Given the description of an element on the screen output the (x, y) to click on. 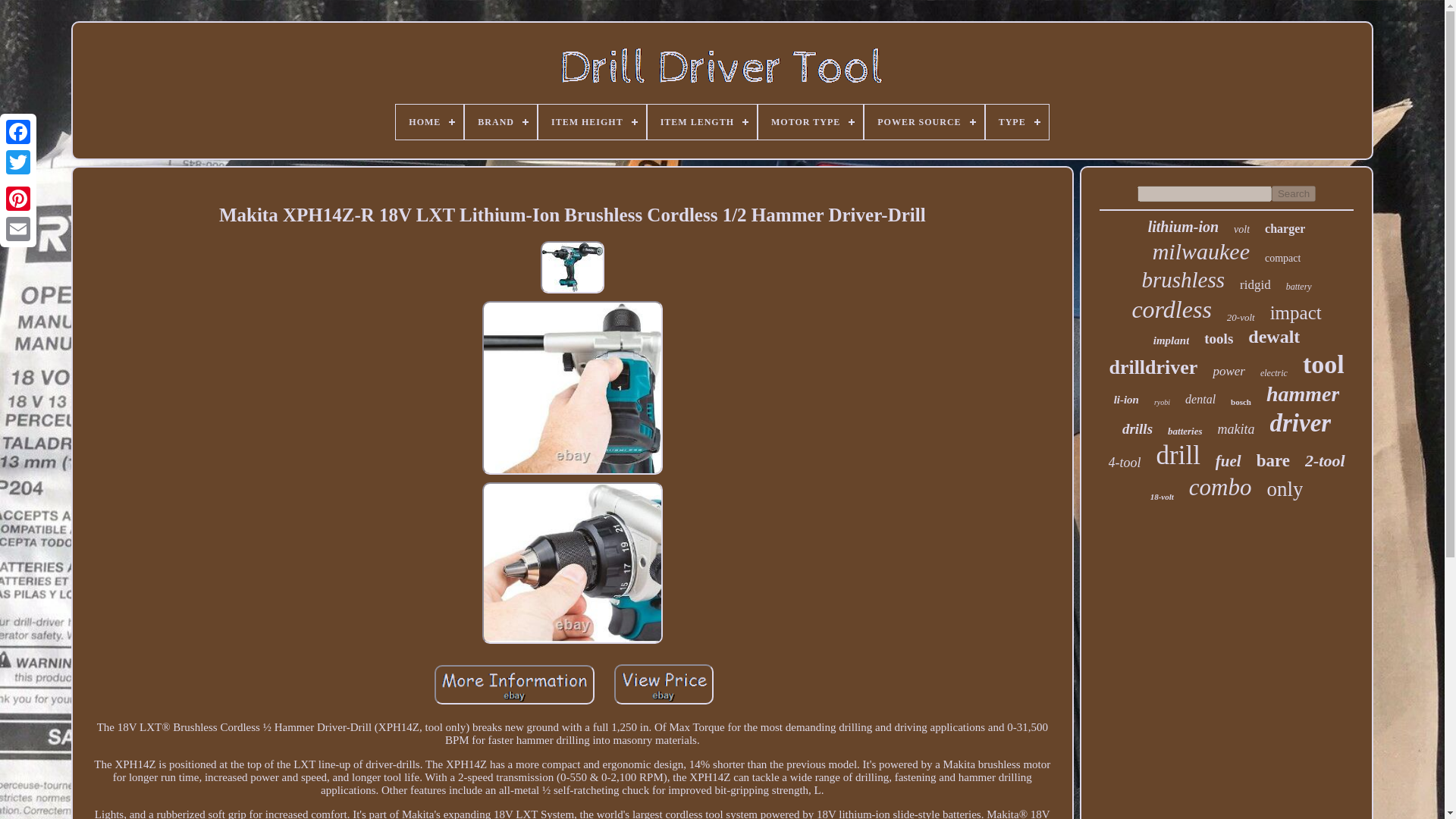
HOME (429, 121)
Search (1293, 193)
BRAND (500, 121)
ITEM HEIGHT (592, 121)
